Given the description of an element on the screen output the (x, y) to click on. 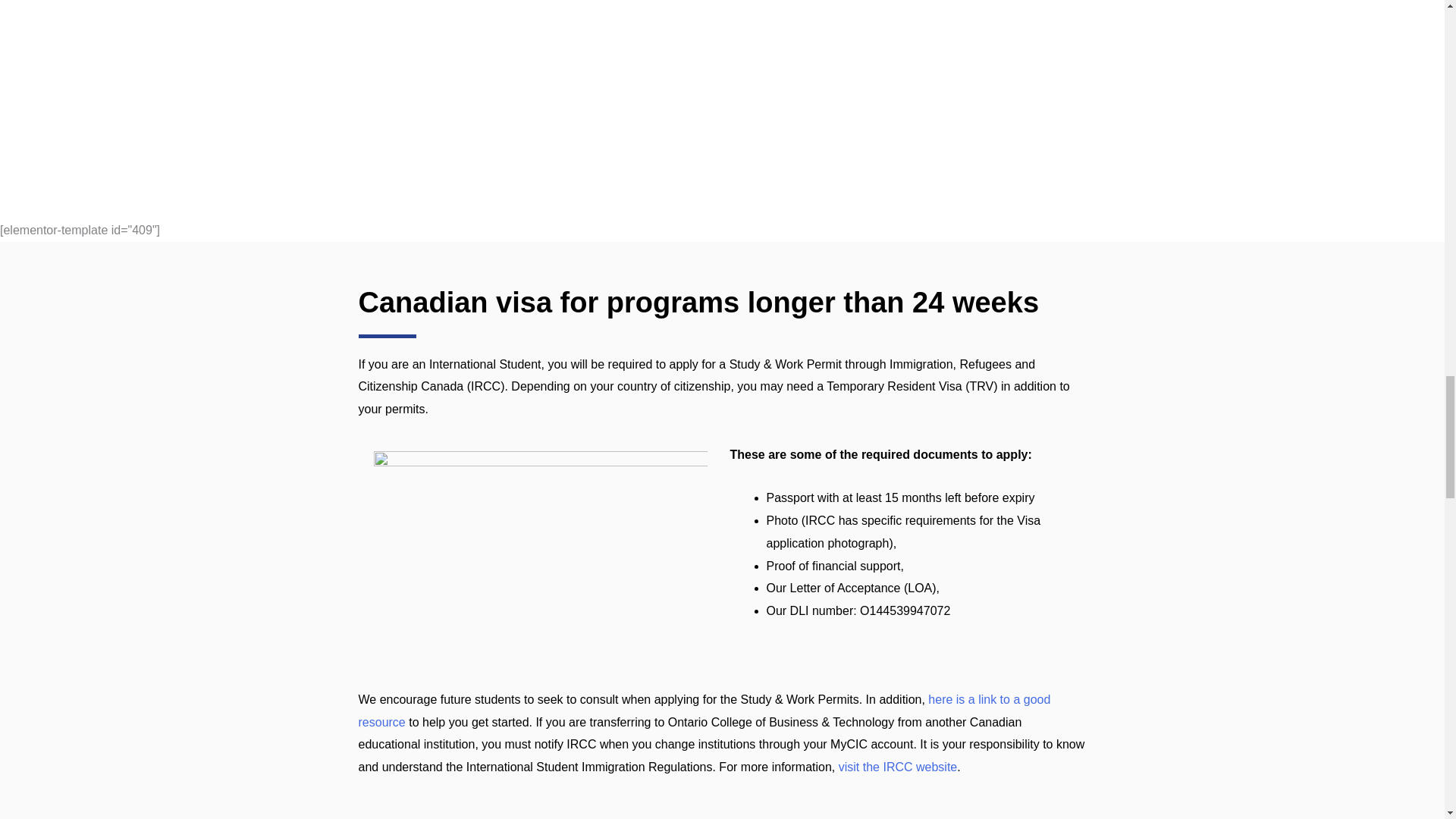
here is a link to a good resource (703, 710)
visit the IRCC website (898, 766)
